Given the description of an element on the screen output the (x, y) to click on. 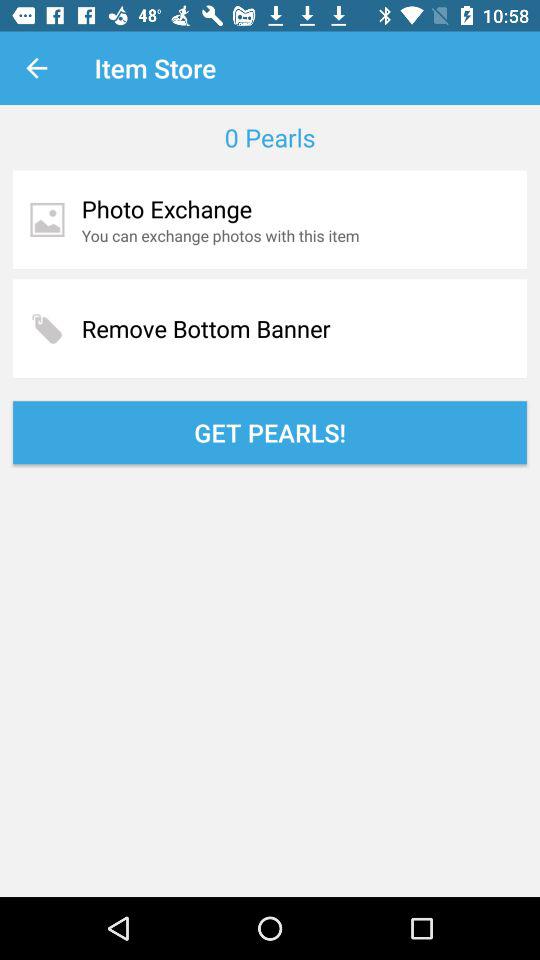
flip until get pearls! icon (269, 432)
